Given the description of an element on the screen output the (x, y) to click on. 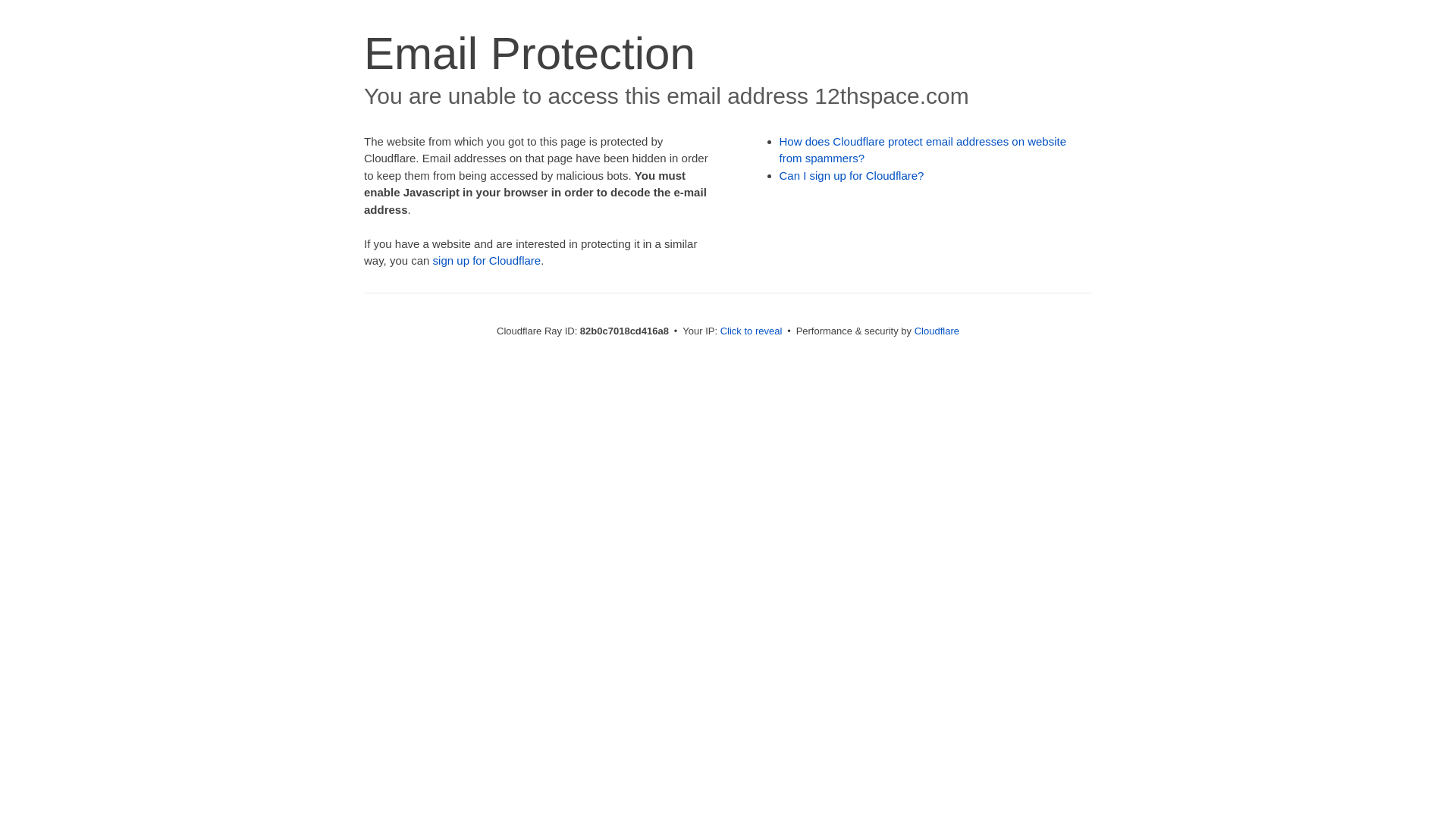
sign up for Cloudflare Element type: text (487, 260)
Click to reveal Element type: text (751, 330)
Cloudflare Element type: text (936, 330)
Can I sign up for Cloudflare? Element type: text (851, 175)
